Given the description of an element on the screen output the (x, y) to click on. 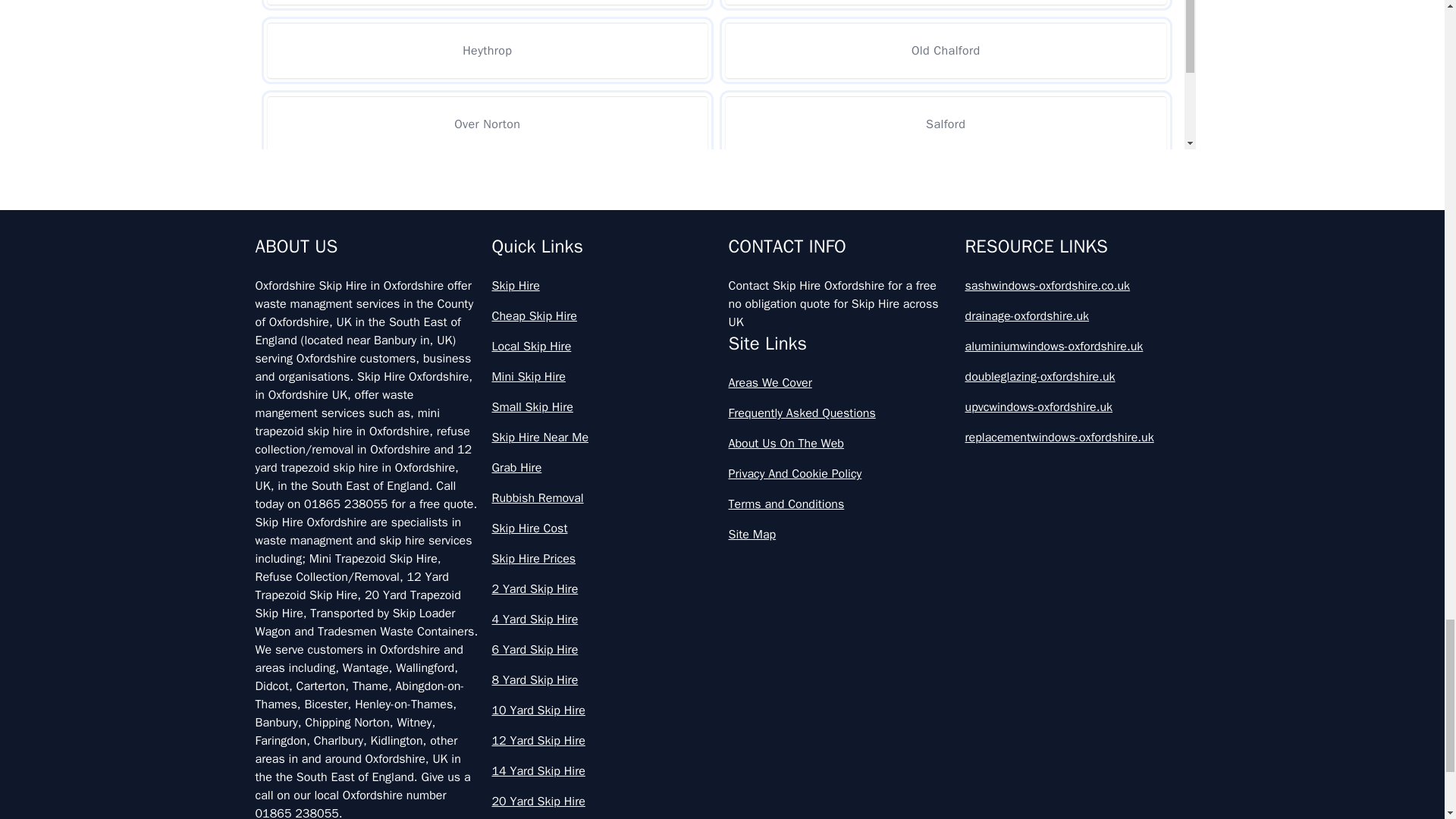
replacementwindows-oxfordshire.uk (1076, 437)
sashwindows-oxfordshire.co.uk (1076, 285)
Is Grab Hire Cheaper Than A Skip In Oxfordshire (722, 205)
How Much Is Grab Hire In Oxfordshire (722, 14)
What Is Grab Hire In Oxfordshire (722, 272)
doubleglazing-oxfordshire.uk (1076, 376)
drainage-oxfordshire.uk (1076, 316)
How Much Is Grab Lorry Hire In Oxfordshire (722, 71)
aluminiumwindows-oxfordshire.uk (1076, 346)
Site Map (840, 534)
upvcwindows-oxfordshire.uk (1076, 407)
How Much To Hire A Grab Lorry In Oxfordshire (722, 138)
